Given the description of an element on the screen output the (x, y) to click on. 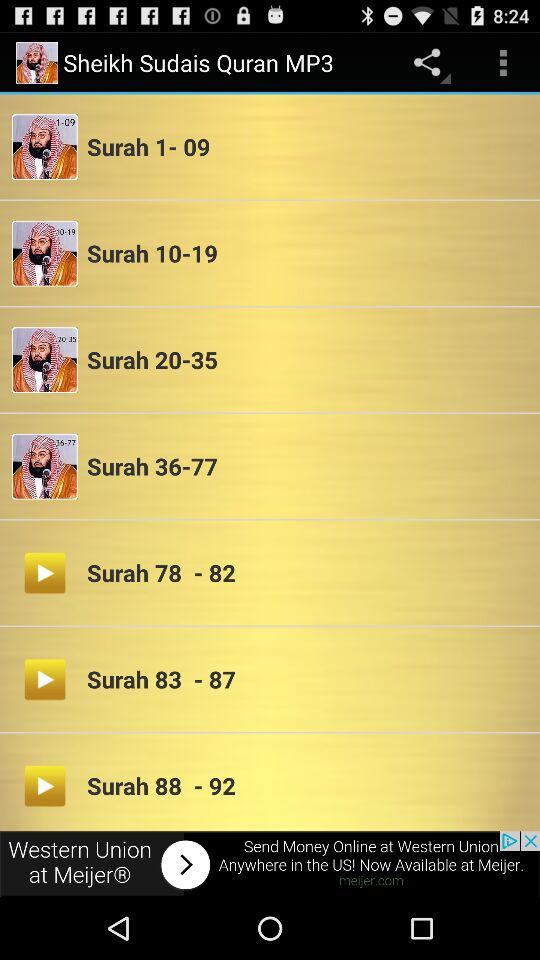
open advertisement (270, 864)
